Given the description of an element on the screen output the (x, y) to click on. 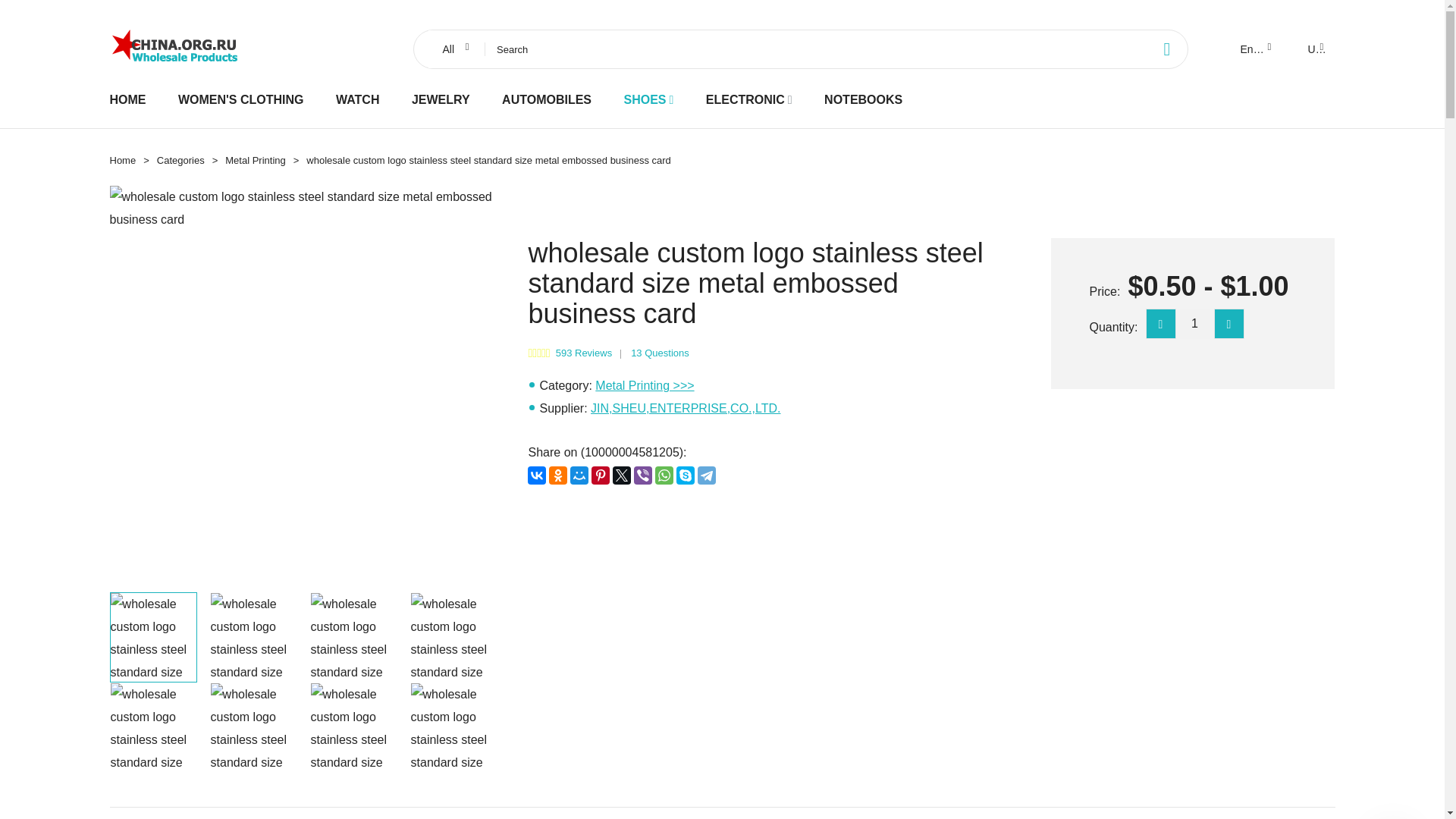
HOME (127, 99)
WOMEN'S CLOTHING (240, 99)
Pinterest (600, 475)
English (1253, 48)
Viber (642, 475)
WATCH (357, 99)
Home (122, 160)
All (454, 48)
AUTOMOBILES (546, 99)
1 (1194, 323)
Skype (685, 475)
USD (1314, 48)
13 Questions (659, 352)
Twitter (621, 475)
Metal Printing (255, 160)
